Given the description of an element on the screen output the (x, y) to click on. 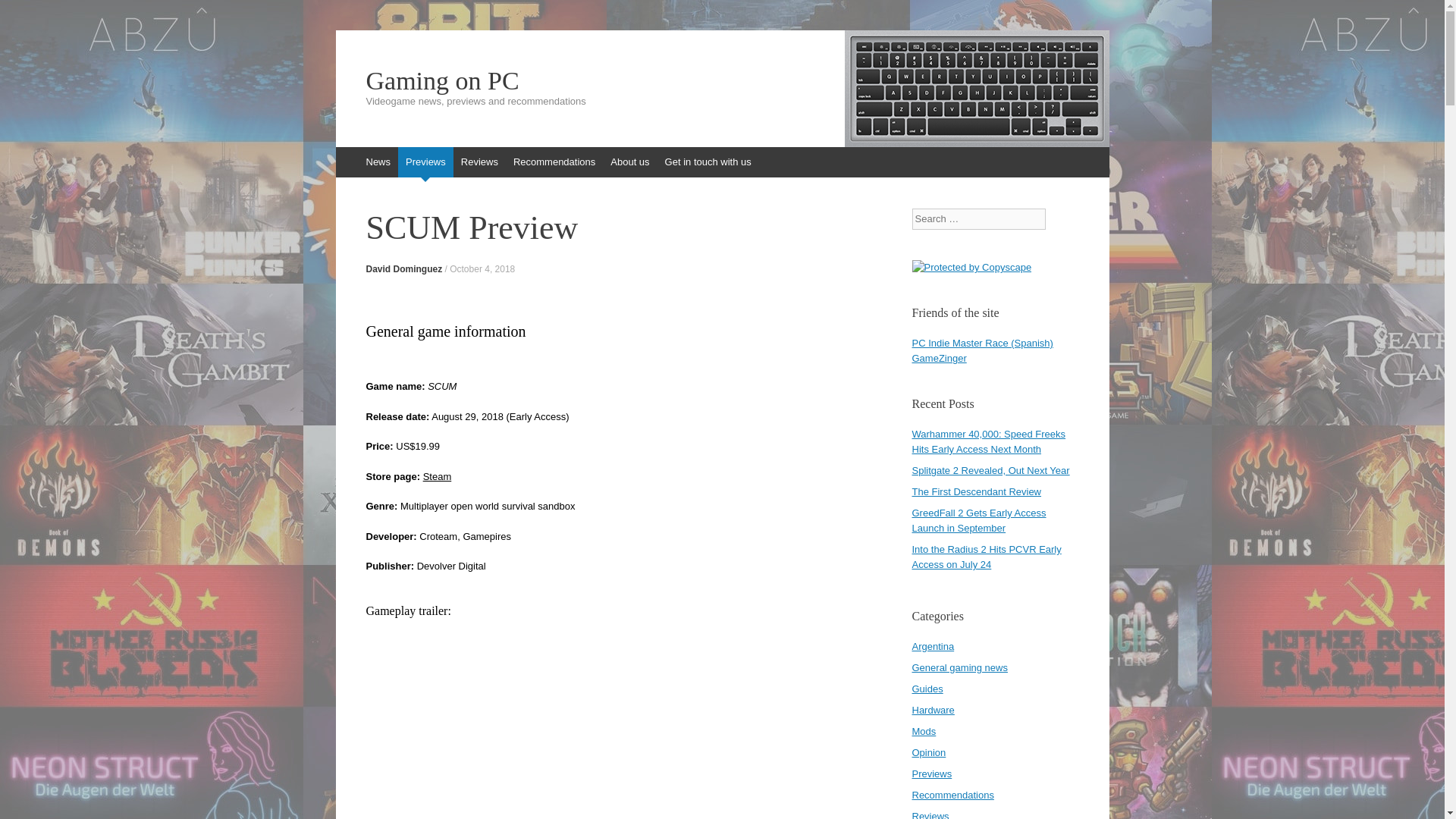
Previews (424, 162)
Gaming on PC (721, 80)
Protected by Copyscape - Do not copy content from this page. (970, 267)
About us (629, 162)
October 4, 2018 (482, 268)
David Dominguez (403, 268)
Skip to content (342, 154)
Get in touch with us (708, 162)
Recommendations (553, 162)
Steam (437, 475)
News (377, 162)
Reviews (478, 162)
Gaming on PC (721, 80)
